Given the description of an element on the screen output the (x, y) to click on. 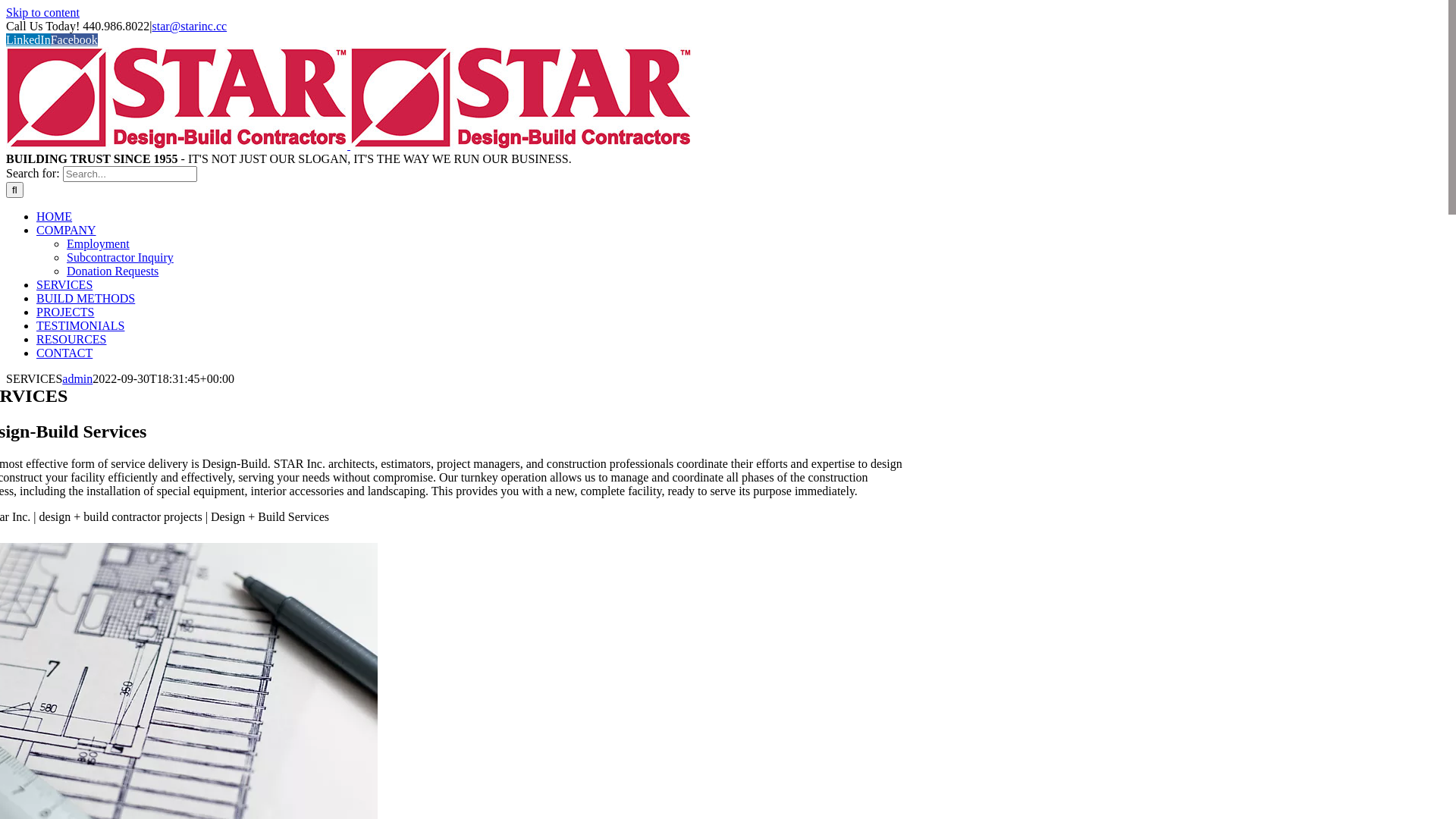
star@starinc.cc Element type: text (188, 25)
Facebook Element type: text (73, 39)
HOME Element type: text (54, 216)
Skip to content Element type: text (42, 12)
LinkedIn Element type: text (28, 39)
Donation Requests Element type: text (112, 270)
RESOURCES Element type: text (71, 338)
PROJECTS Element type: text (65, 311)
BUILD METHODS Element type: text (85, 297)
TESTIMONIALS Element type: text (80, 325)
CONTACT Element type: text (64, 352)
SERVICES Element type: text (64, 284)
Subcontractor Inquiry Element type: text (119, 257)
Employment Element type: text (97, 243)
COMPANY Element type: text (66, 229)
admin Element type: text (77, 378)
